Given the description of an element on the screen output the (x, y) to click on. 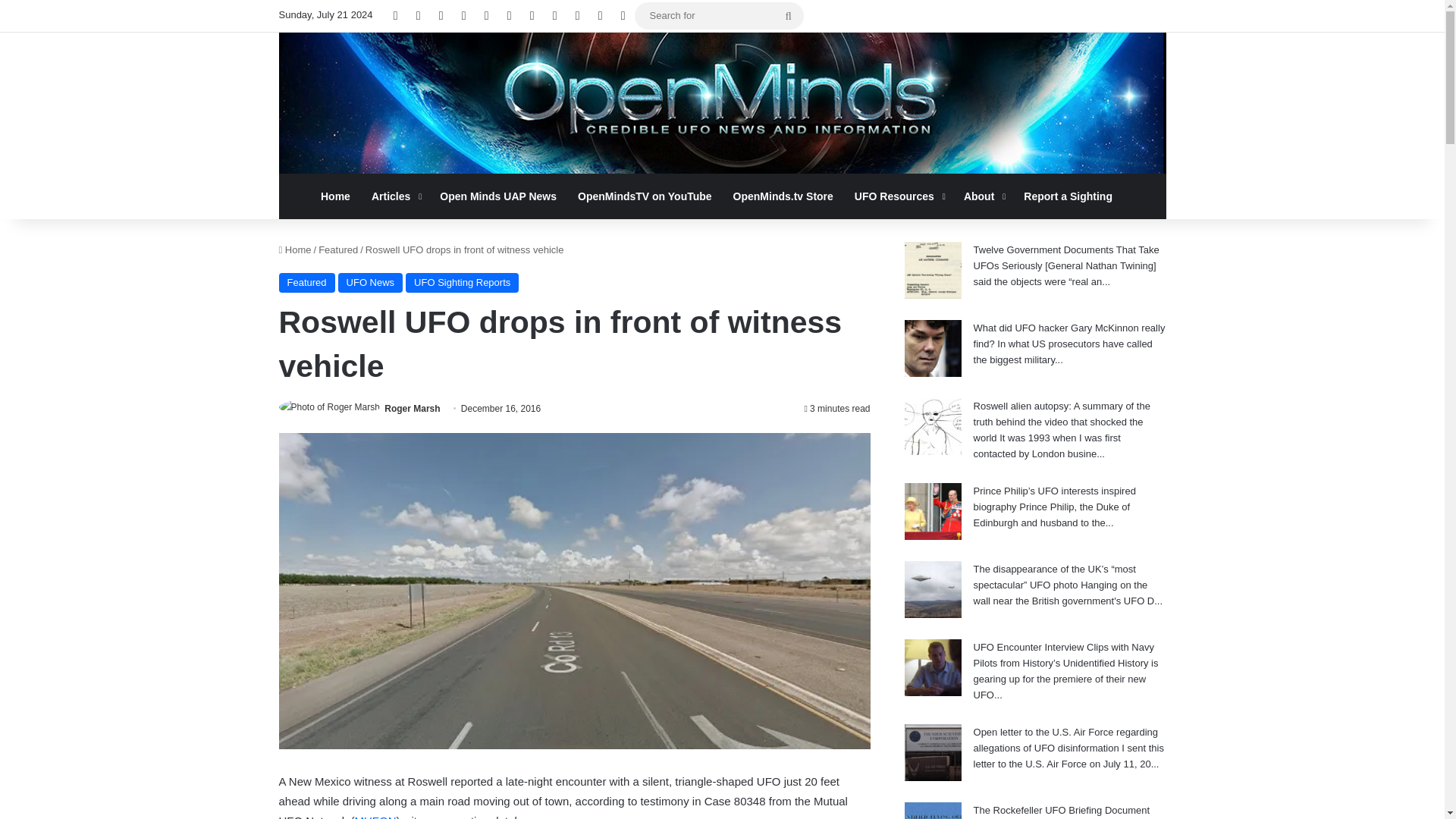
About (983, 196)
Search for (788, 15)
OpenMindsTV on YouTube (644, 196)
Open Minds UAP News (498, 196)
OpenMinds.tv Store (783, 196)
Search for (718, 15)
Roger Marsh (411, 408)
UFO Resources (898, 196)
Openminds.tv (722, 102)
Articles (395, 196)
Home (335, 196)
